Given the description of an element on the screen output the (x, y) to click on. 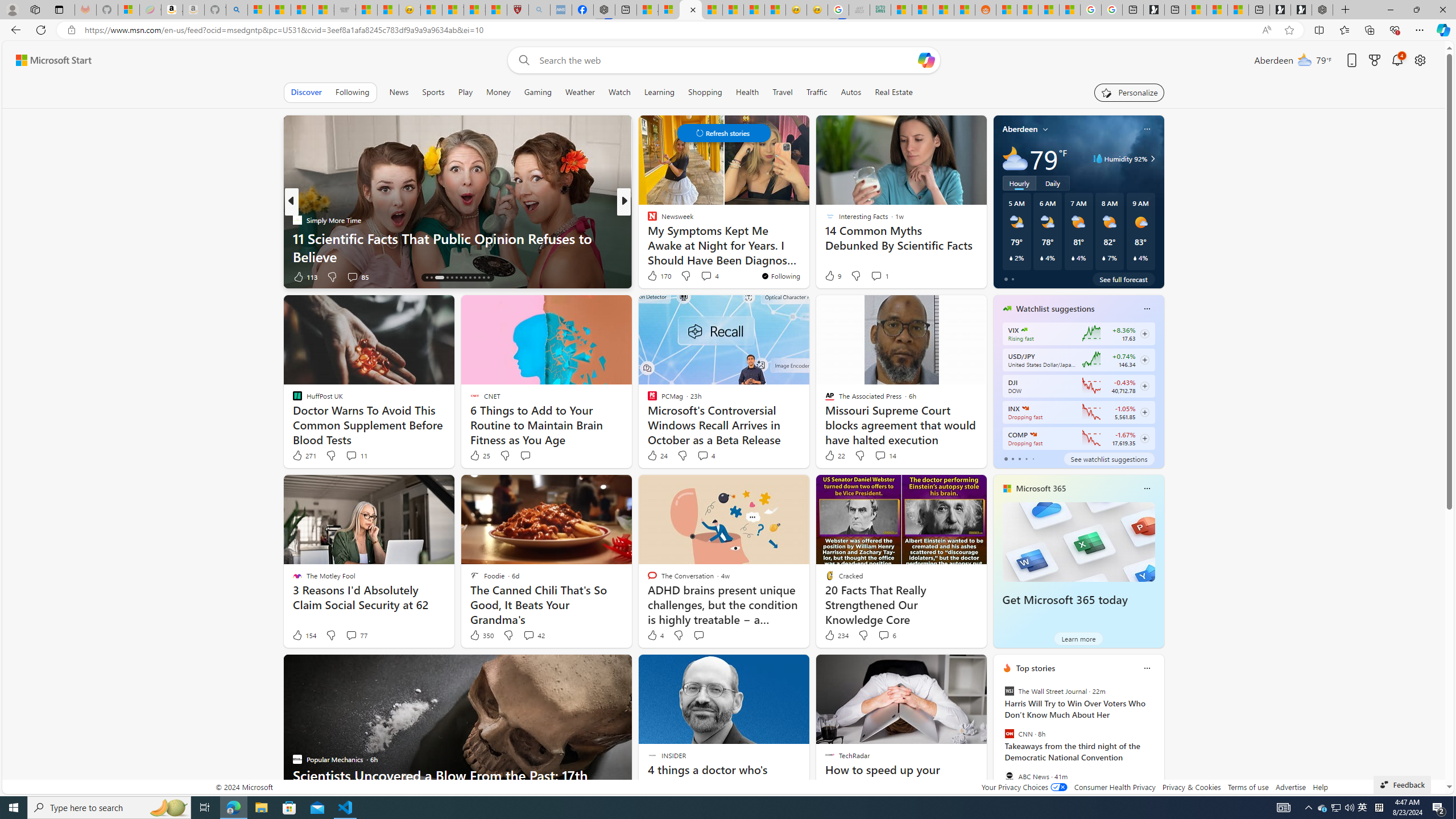
View comments 14 Comment (885, 455)
next (1158, 741)
271 Like (303, 455)
View comments 77 Comment (350, 635)
You're following FOX News (949, 279)
tab-0 (1005, 458)
